Given the description of an element on the screen output the (x, y) to click on. 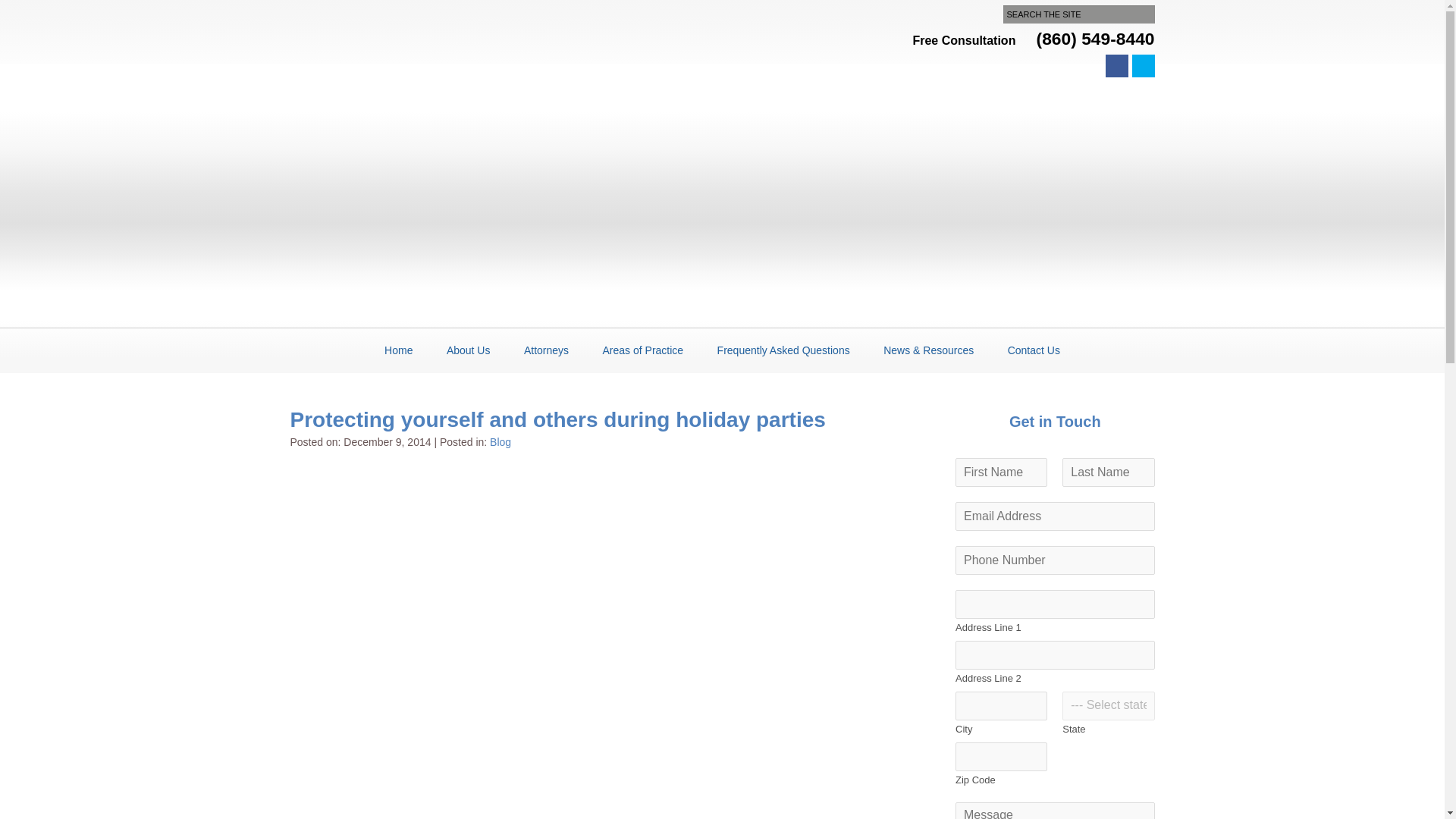
Search the site (1078, 13)
About Us (468, 344)
GO (222, 9)
Home (398, 344)
Facebook (1116, 65)
Linkedin (1091, 65)
Twitter (1142, 65)
Areas of Practice (643, 344)
Contact Us (1033, 344)
Frequently Asked Questions (783, 344)
Attorneys (546, 344)
Search the site (1078, 13)
